Given the description of an element on the screen output the (x, y) to click on. 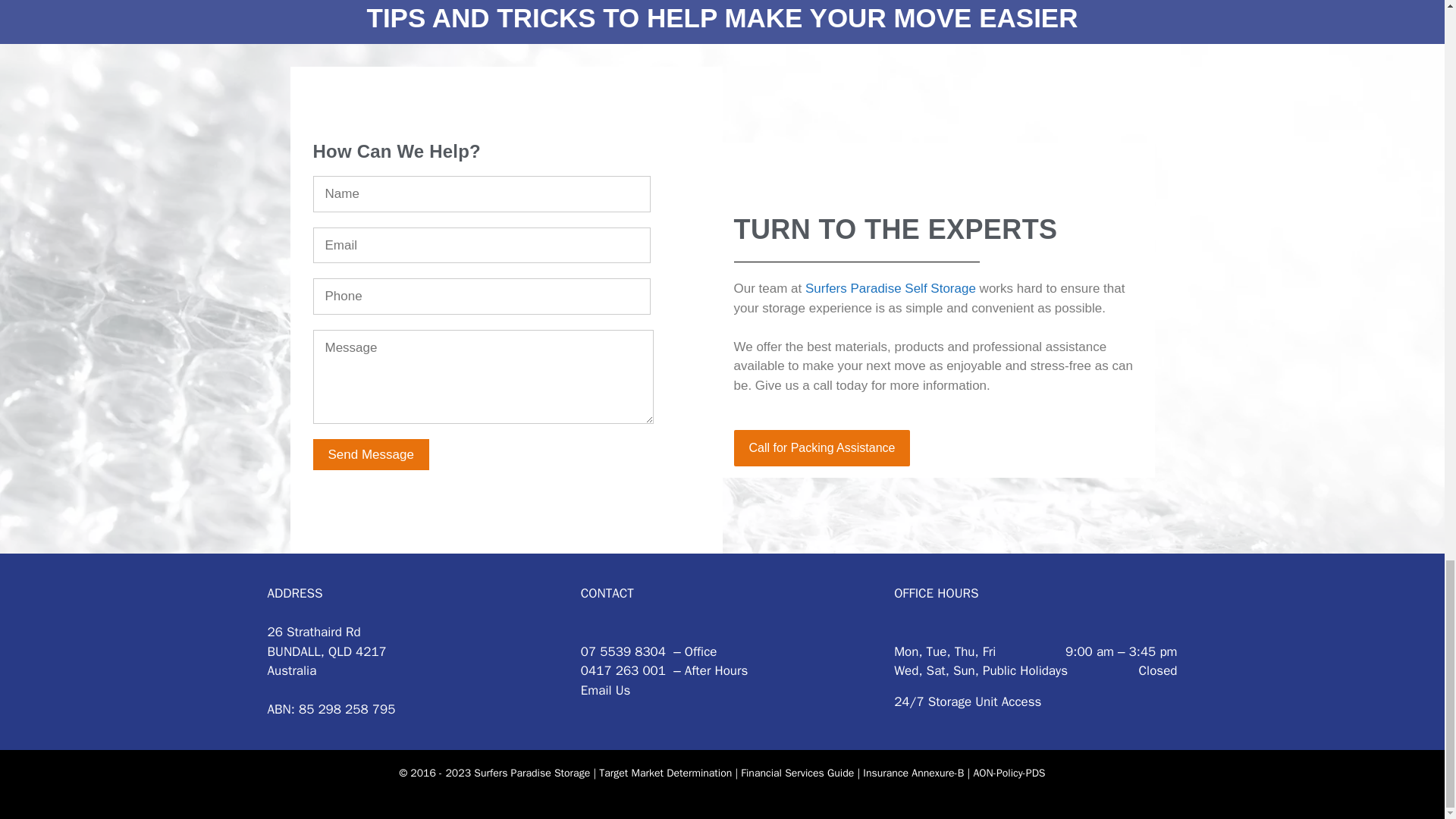
07 5539 8304 (622, 650)
Call for Packing Assistance (822, 447)
Email Us (605, 690)
Send Message (370, 454)
Target Market Determination (665, 771)
Surfers Paradise Self Storage (890, 288)
AON-Policy-PDS (1008, 771)
Send Message (370, 454)
Insurance Annexure-B (913, 771)
0417 263 001 (622, 670)
